Given the description of an element on the screen output the (x, y) to click on. 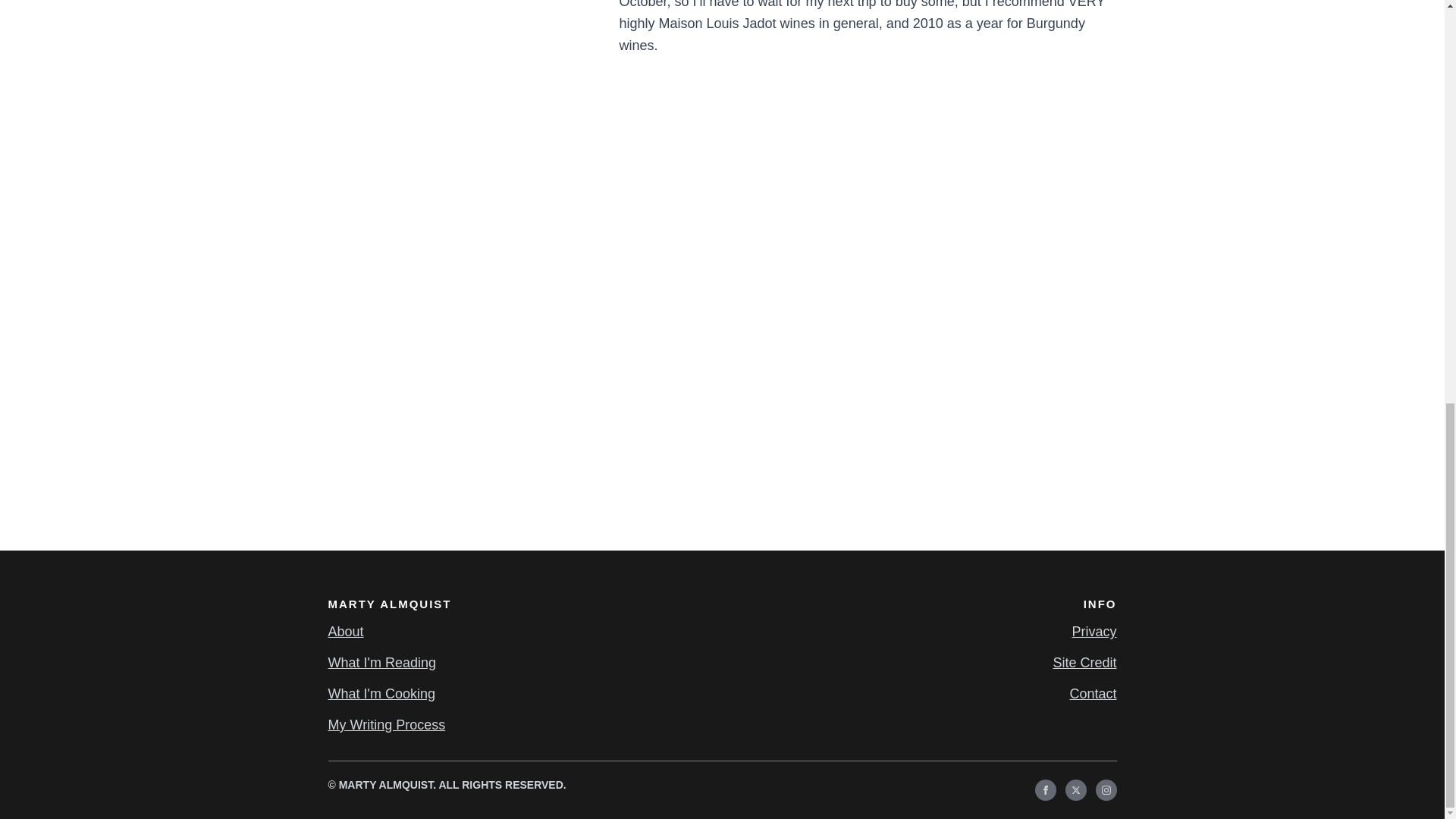
My Writing Process (386, 725)
Contact (1092, 694)
Privacy (1093, 631)
What I'm Cooking (381, 694)
What I'm Reading (381, 662)
Site Credit (1084, 662)
About (344, 631)
